Given the description of an element on the screen output the (x, y) to click on. 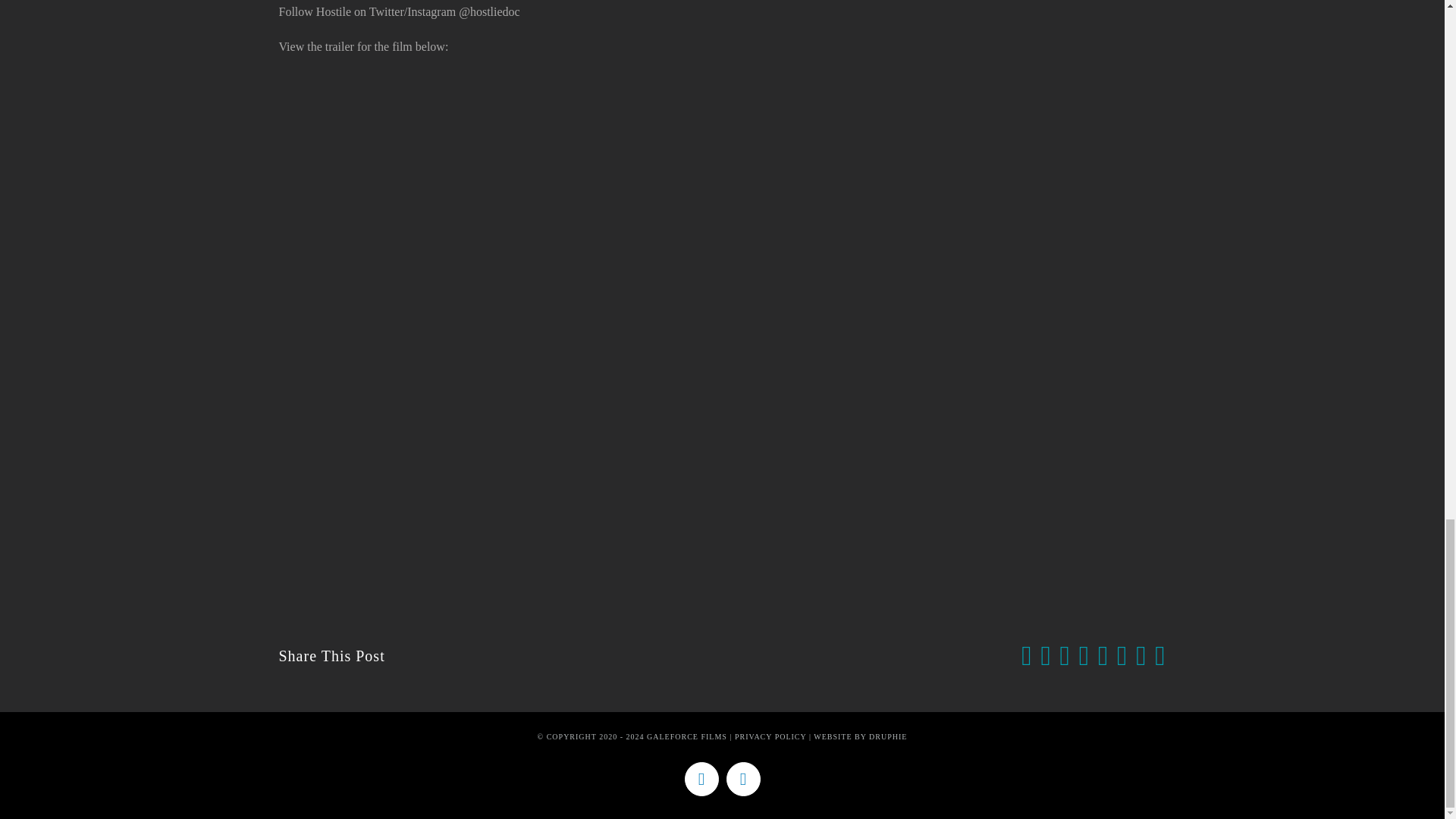
Instagram (743, 779)
Email (1160, 655)
PRIVACY POLICY (770, 736)
Reddit (1064, 655)
Tumblr (1121, 655)
Twitter (1045, 655)
Tumblr (1121, 655)
Facebook (1026, 655)
Twitter (1045, 655)
DRUPHIE (888, 736)
LinkedIn (1083, 655)
Twitter (700, 779)
LinkedIn (1083, 655)
Reddit (1064, 655)
Facebook (1026, 655)
